Given the description of an element on the screen output the (x, y) to click on. 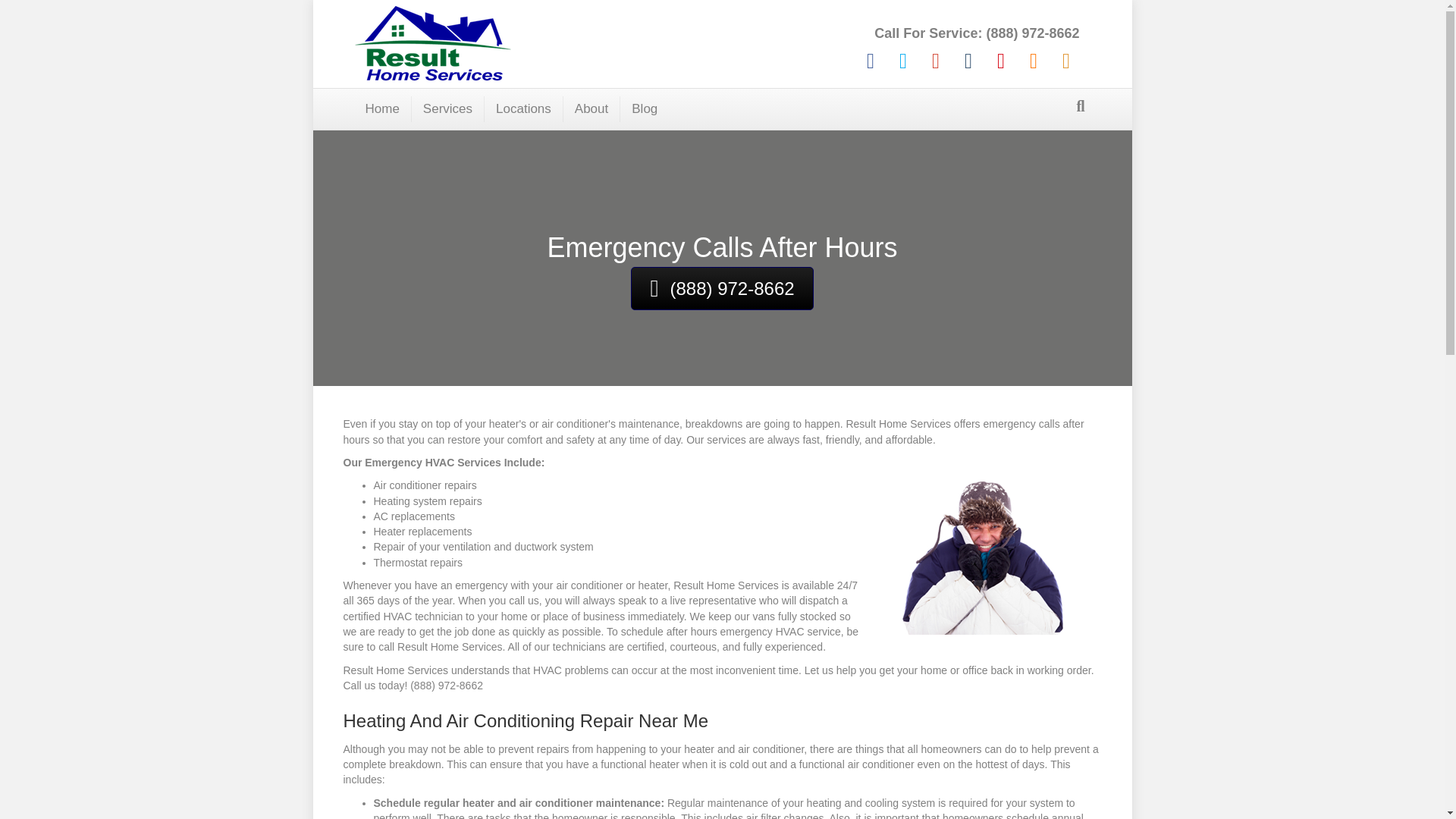
Blog (644, 109)
Youtube (1000, 61)
Twitter (903, 61)
Rss (1065, 61)
Facebook (870, 61)
Services (448, 109)
Tumblr (968, 61)
About (591, 109)
Blogger (1033, 61)
Home (381, 109)
